Given the description of an element on the screen output the (x, y) to click on. 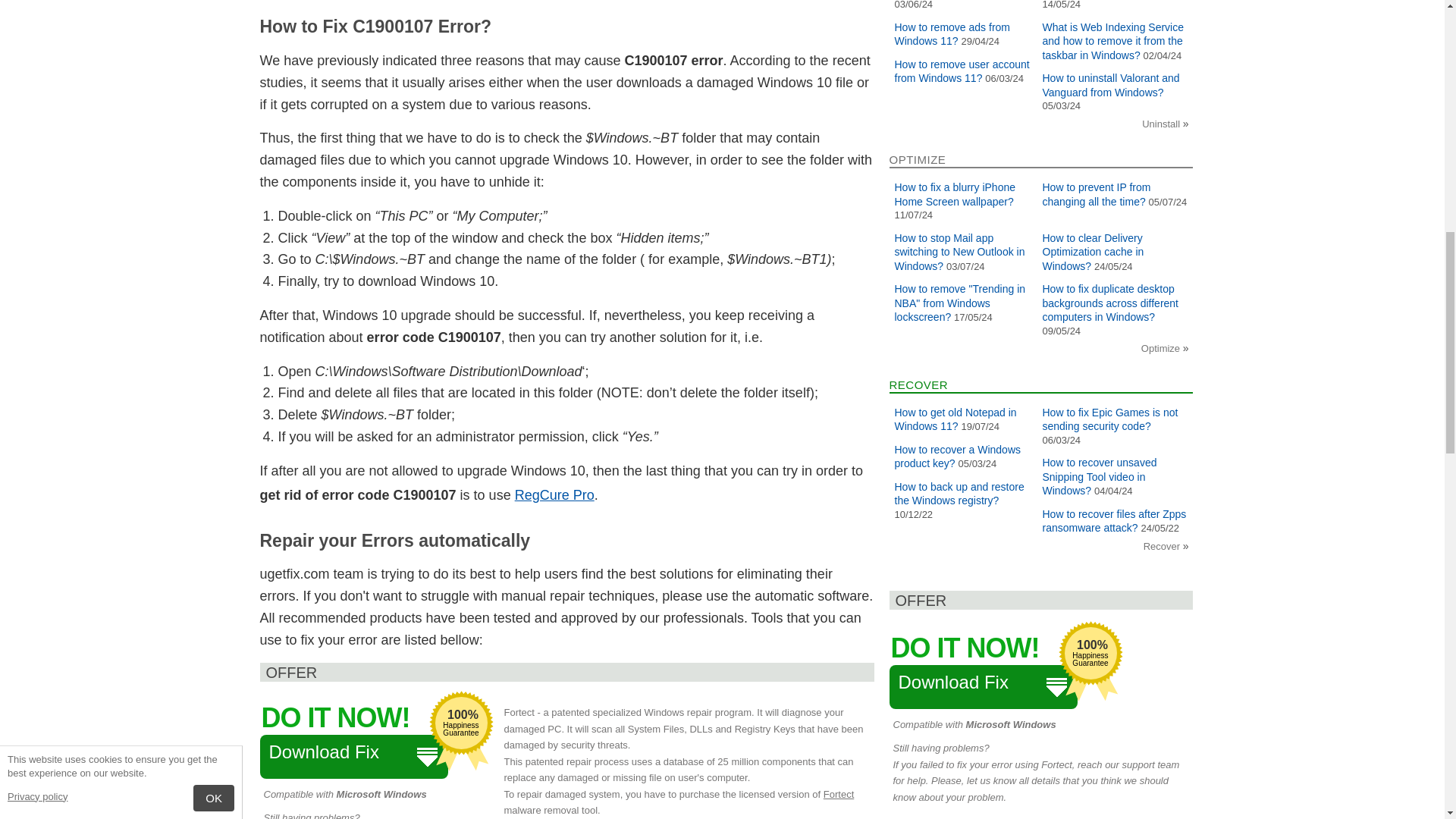
Fortect (838, 794)
RegCure Pro (554, 494)
